Given the description of an element on the screen output the (x, y) to click on. 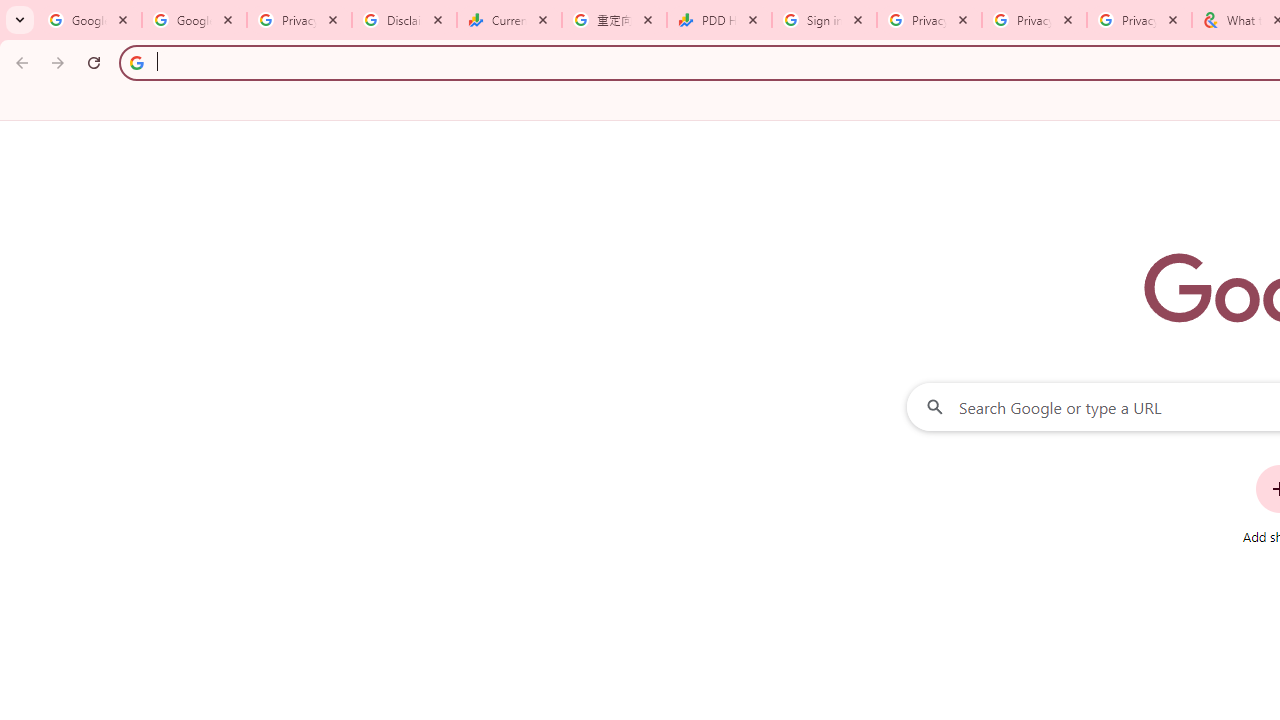
Currencies - Google Finance (509, 20)
Privacy Checkup (1033, 20)
PDD Holdings Inc - ADR (PDD) Price & News - Google Finance (718, 20)
Sign in - Google Accounts (823, 20)
Google Workspace Admin Community (89, 20)
